Given the description of an element on the screen output the (x, y) to click on. 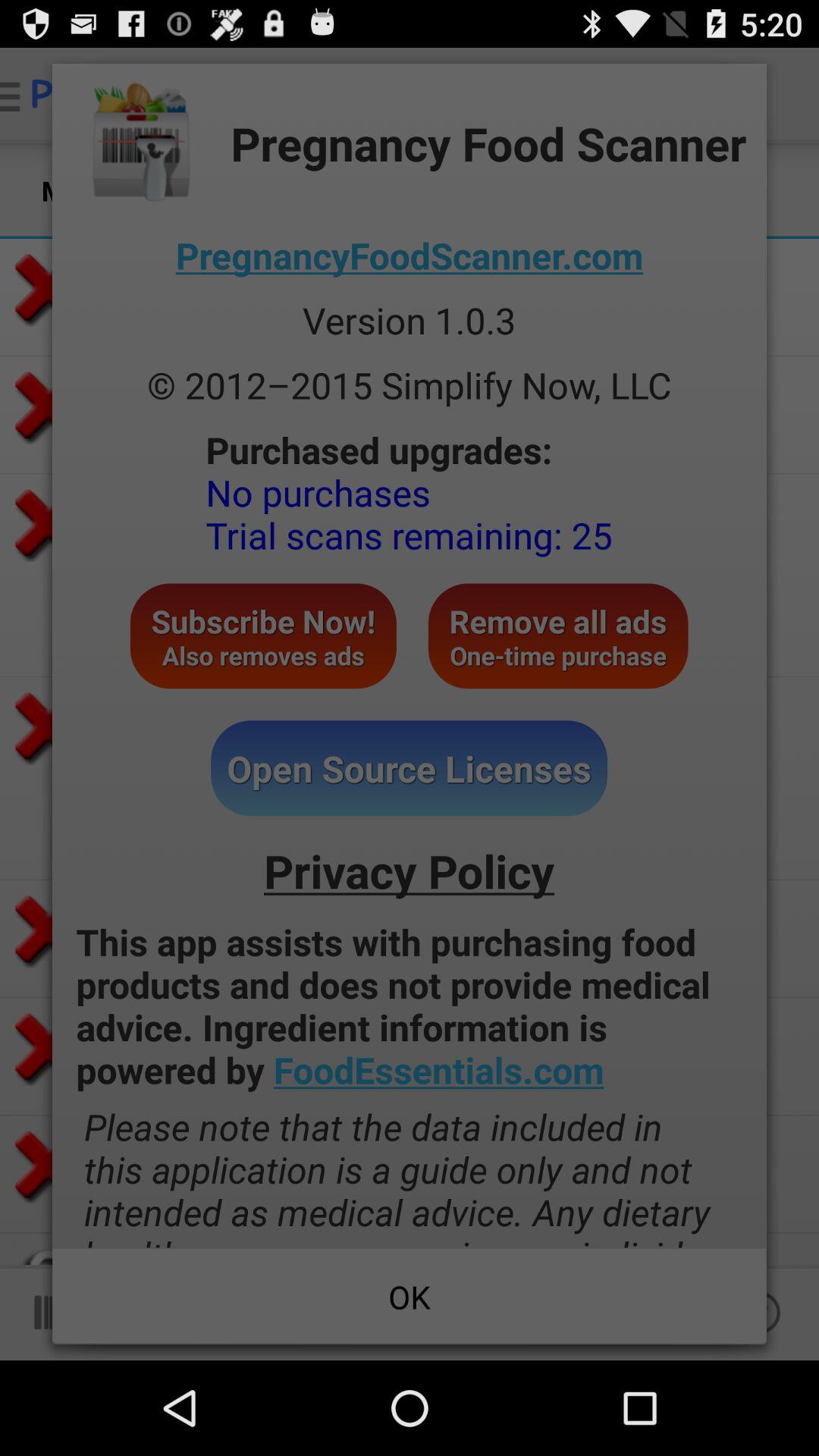
click icon on the right (558, 635)
